Given the description of an element on the screen output the (x, y) to click on. 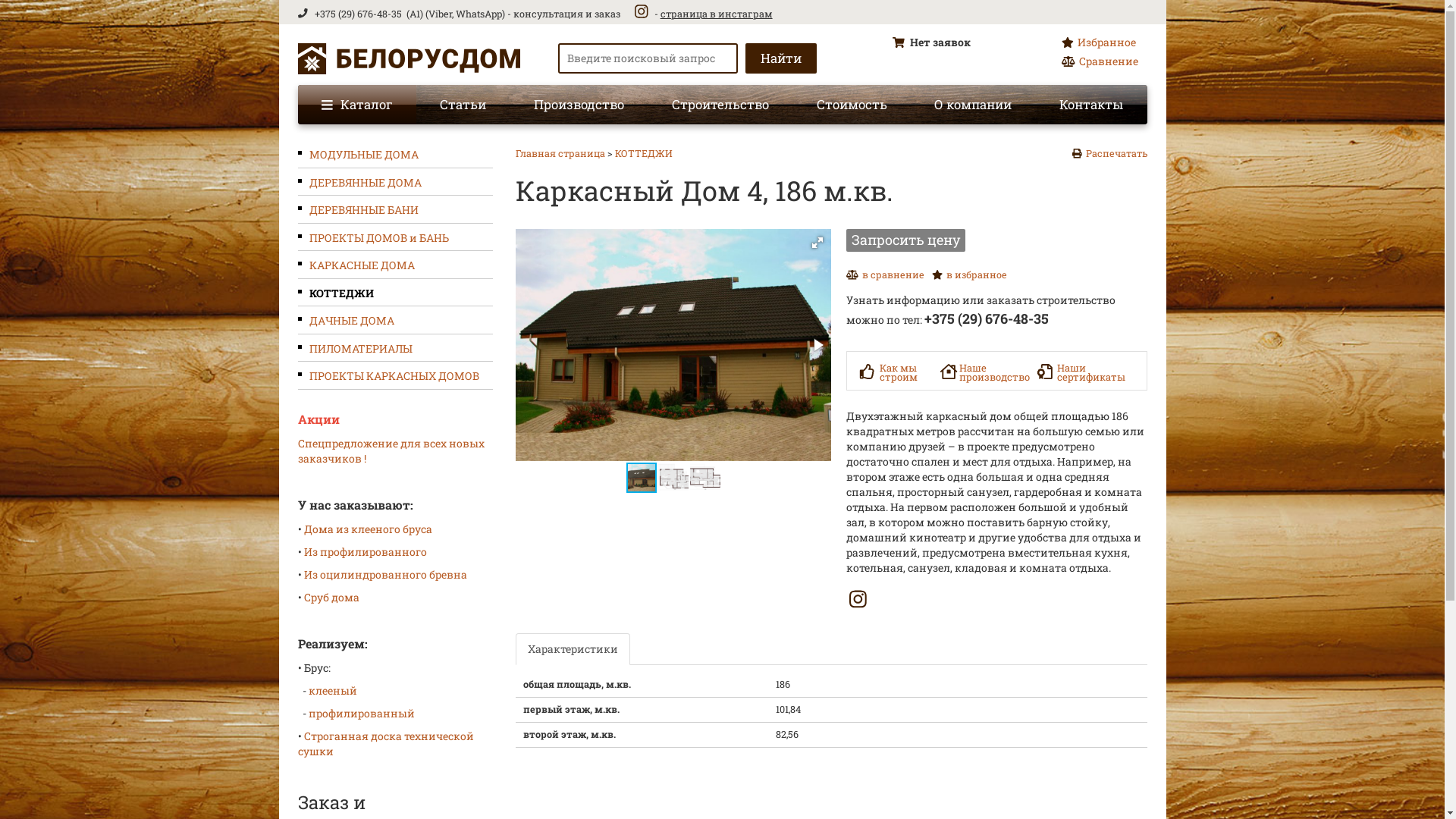
+375 (29) 676-48-35 Element type: text (359, 13)
Viber Element type: text (439, 13)
WhatsApp Element type: text (478, 13)
